Given the description of an element on the screen output the (x, y) to click on. 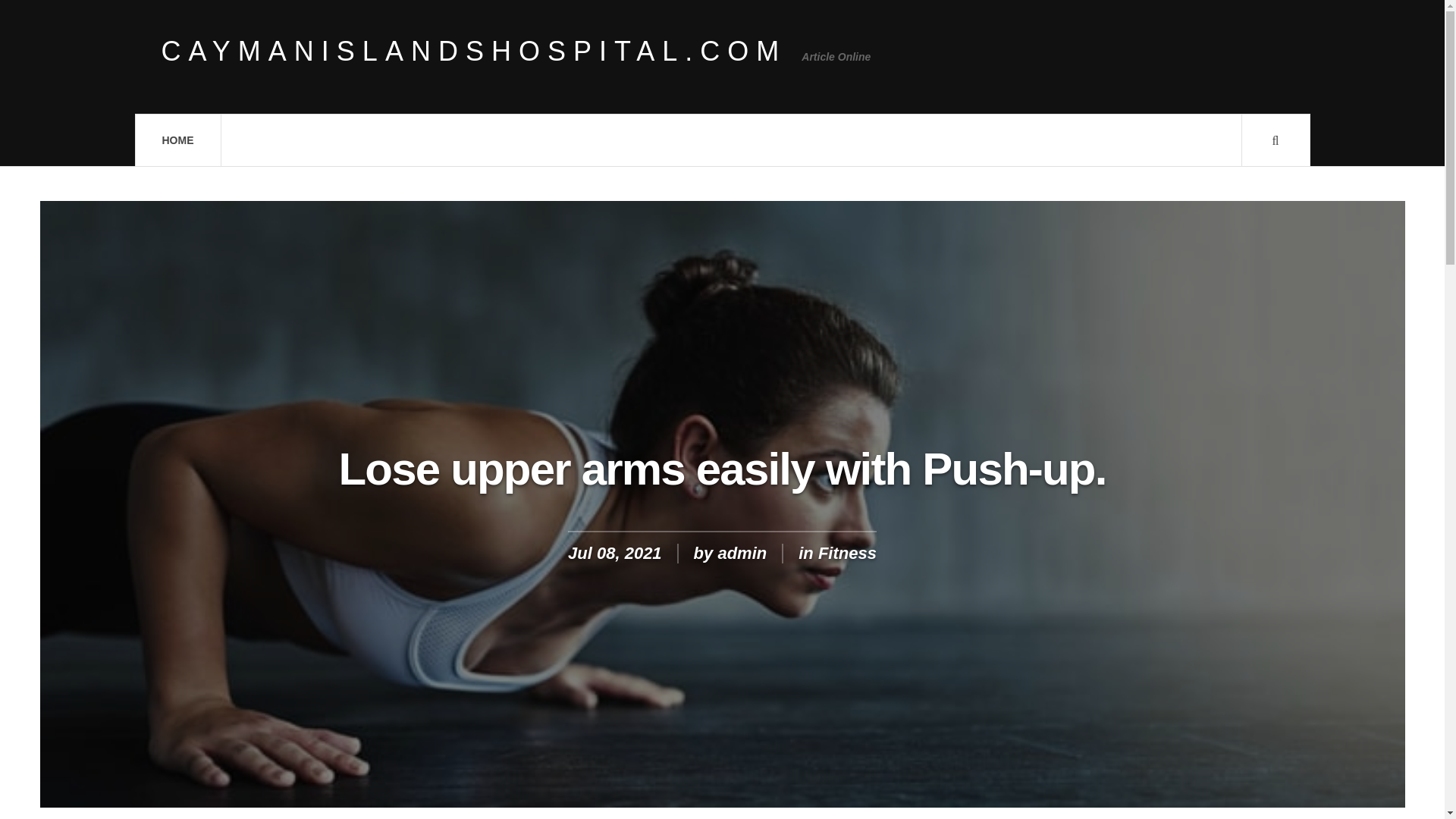
HOME (178, 140)
Fitness (847, 552)
caymanislandshospital.com (473, 51)
CAYMANISLANDSHOSPITAL.COM (473, 51)
admin (742, 552)
View all posts in Fitness (847, 552)
